Given the description of an element on the screen output the (x, y) to click on. 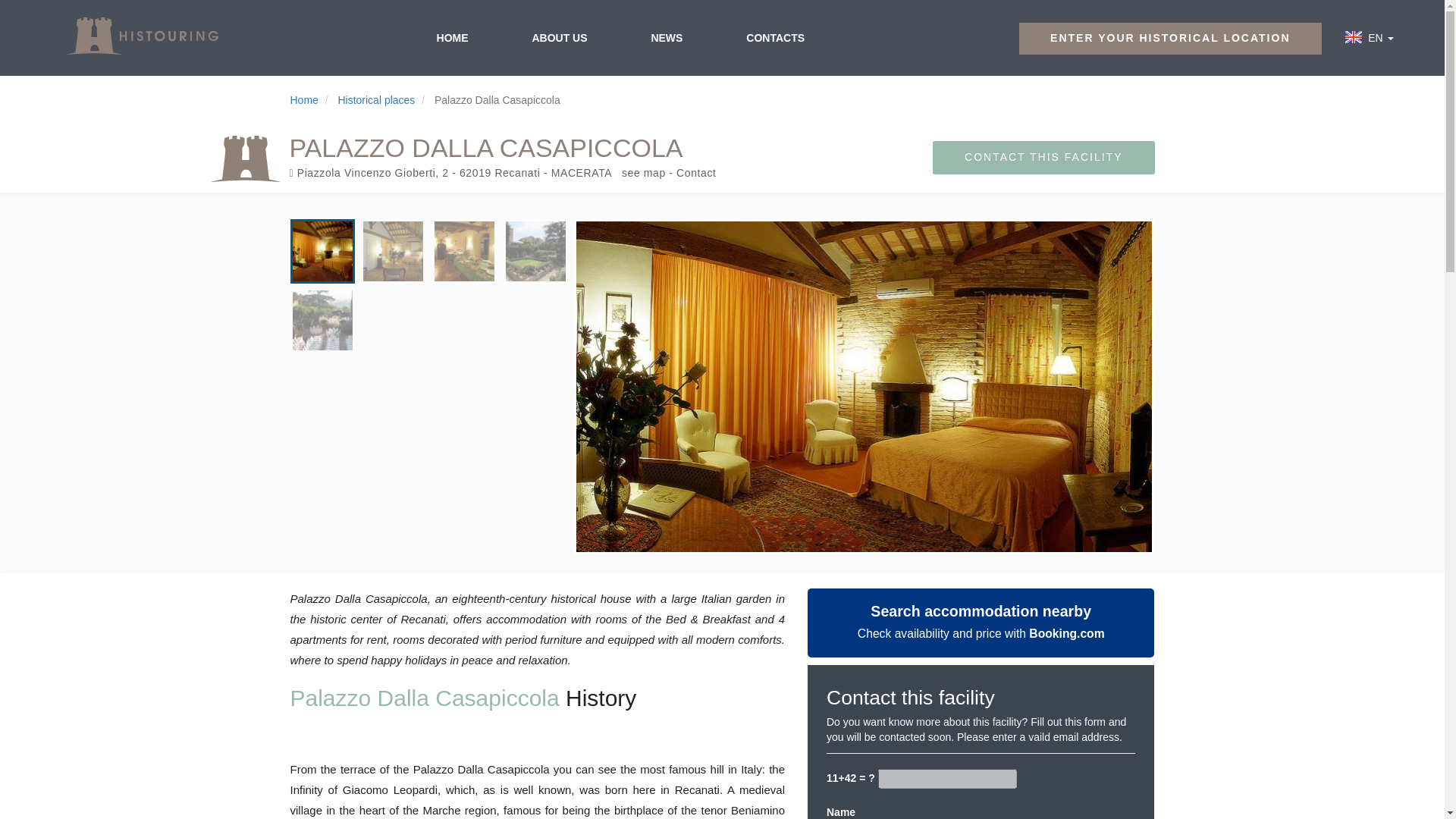
see map (643, 173)
NEWS (666, 37)
HOME (452, 37)
Historical places (375, 100)
NEWS (666, 37)
Contact (696, 173)
HOME (452, 37)
CONTACT THIS FACILITY (1043, 157)
ABOUT US (558, 37)
